Given the description of an element on the screen output the (x, y) to click on. 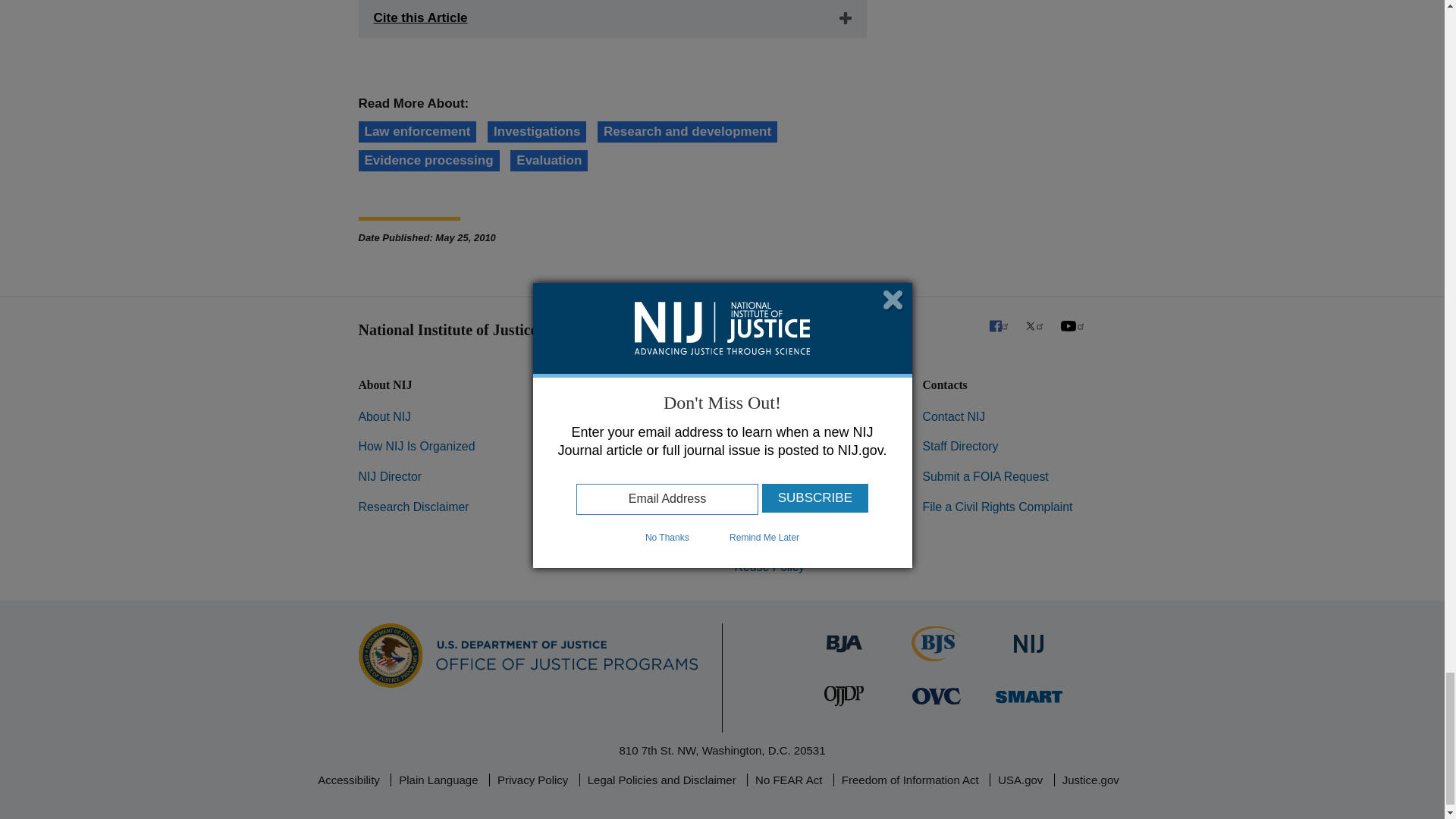
Law enforcement (417, 131)
Cite this Article (612, 18)
